Given the description of an element on the screen output the (x, y) to click on. 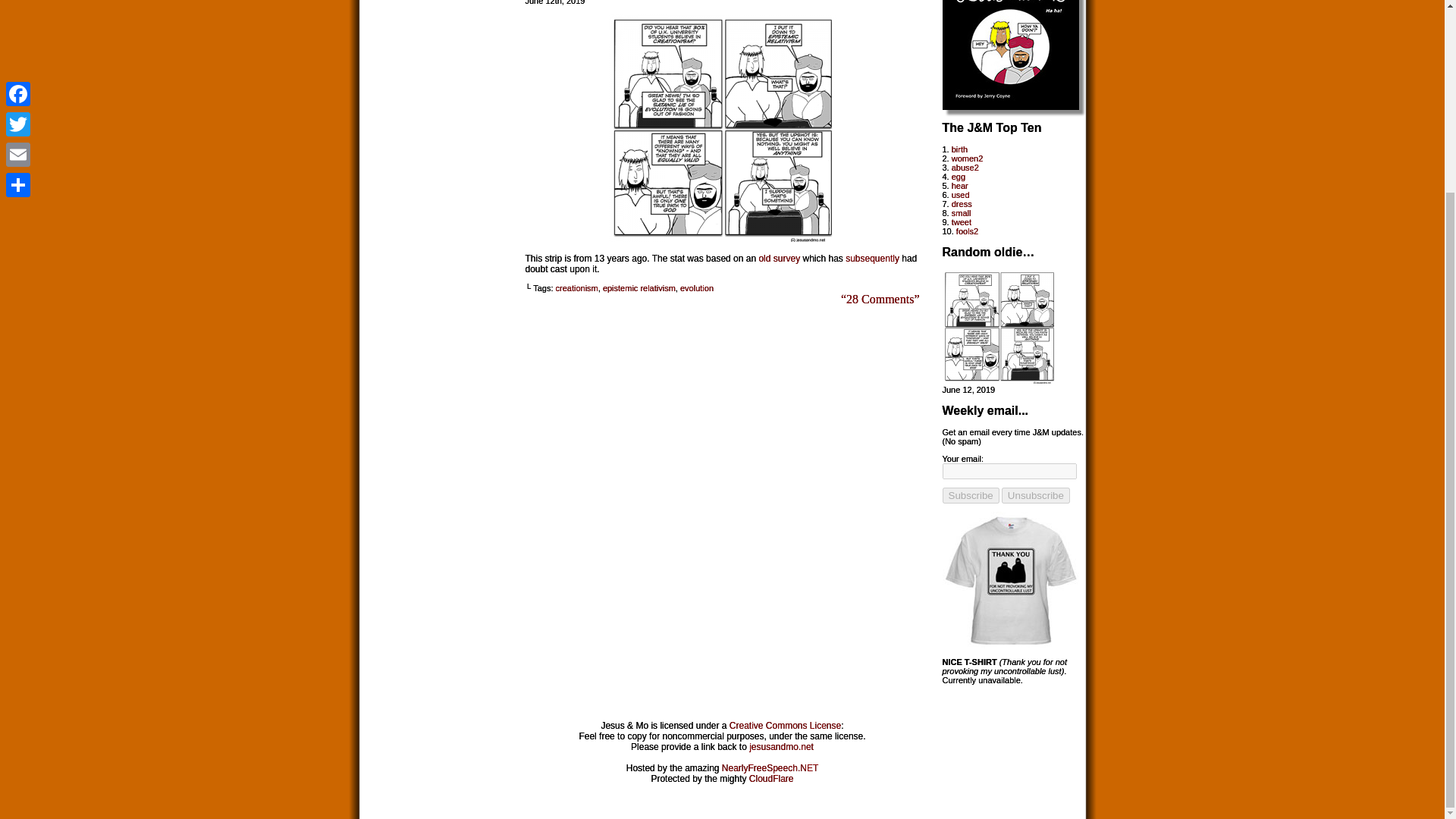
subsequently (872, 258)
egg (958, 175)
Creative Commons License (785, 725)
women2 (968, 157)
epistemic relativism (638, 287)
NearlyFreeSpeech.NET (770, 767)
CloudFlare (771, 778)
know2 (721, 238)
small (961, 212)
Permanent Link to know2 (998, 379)
tweet (961, 221)
abuse2 (965, 166)
jesusandmo.net (781, 747)
old survey (778, 258)
dress (962, 203)
